Given the description of an element on the screen output the (x, y) to click on. 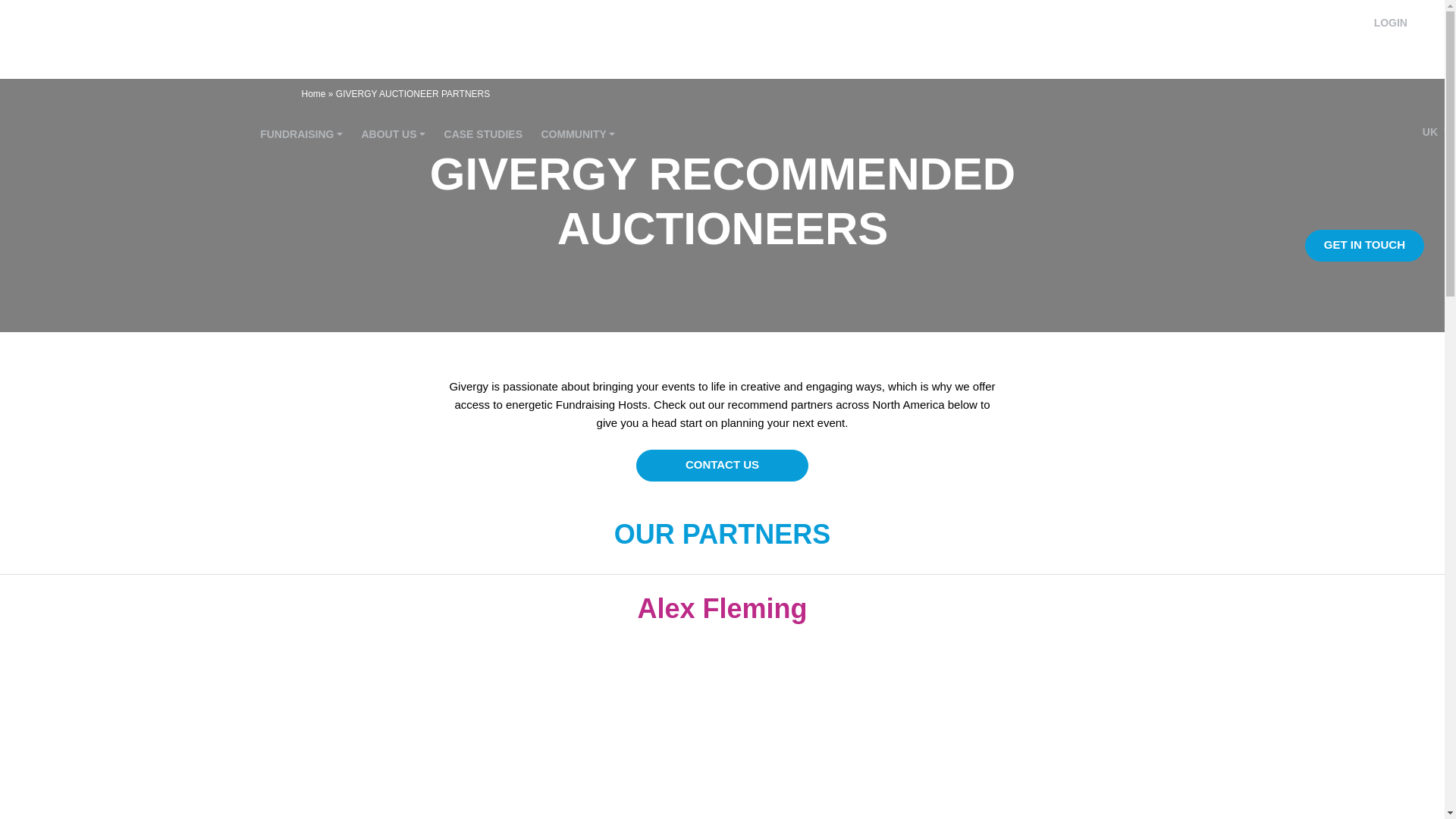
COMMUNITY (577, 133)
GET IN TOUCH (1363, 245)
LOGIN (1390, 22)
CASE STUDIES (482, 133)
ABOUT US (392, 133)
FUNDRAISING (300, 133)
